Given the description of an element on the screen output the (x, y) to click on. 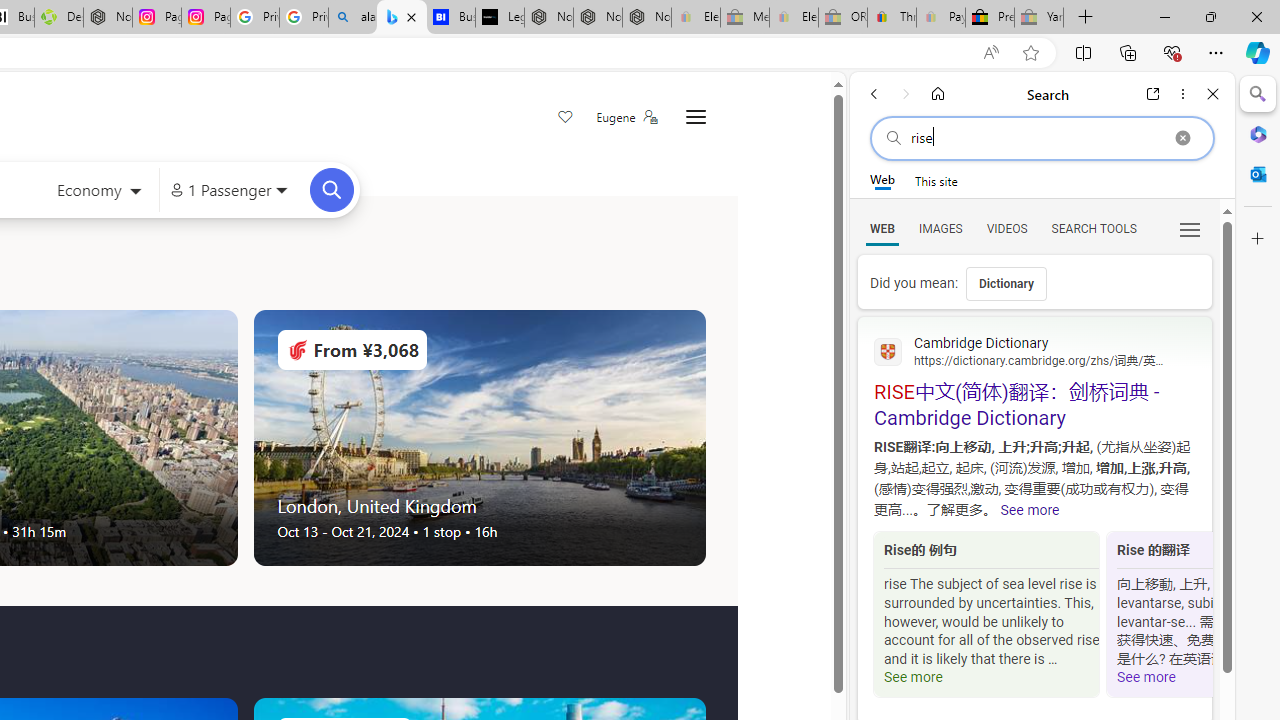
Save (565, 118)
1 Passenger (228, 189)
Click to scroll right (1188, 616)
